Given the description of an element on the screen output the (x, y) to click on. 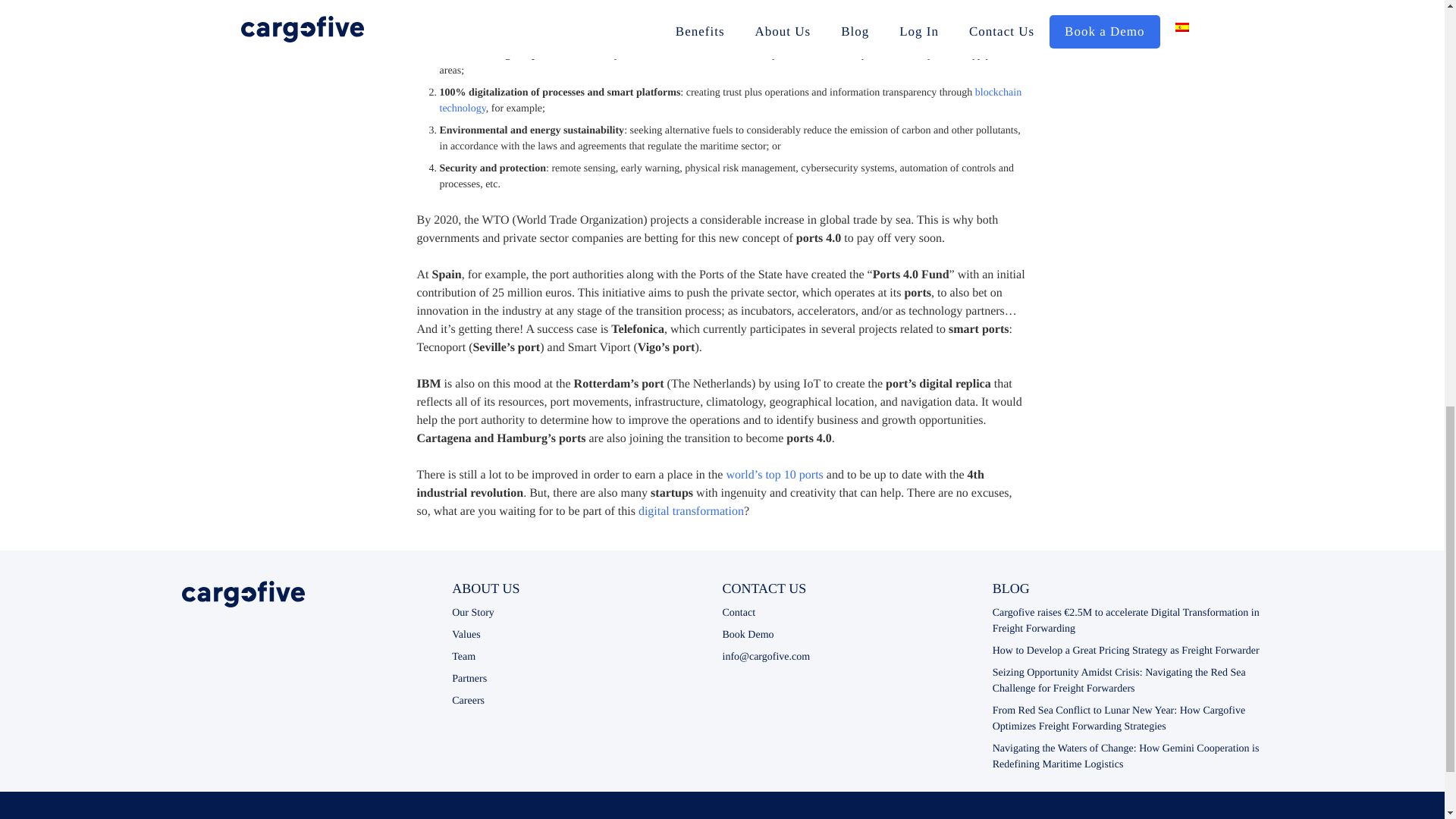
Values (465, 634)
blockchain technology (730, 100)
Team (463, 656)
Our Story (473, 613)
digital transformation (691, 511)
Partners (468, 678)
